Given the description of an element on the screen output the (x, y) to click on. 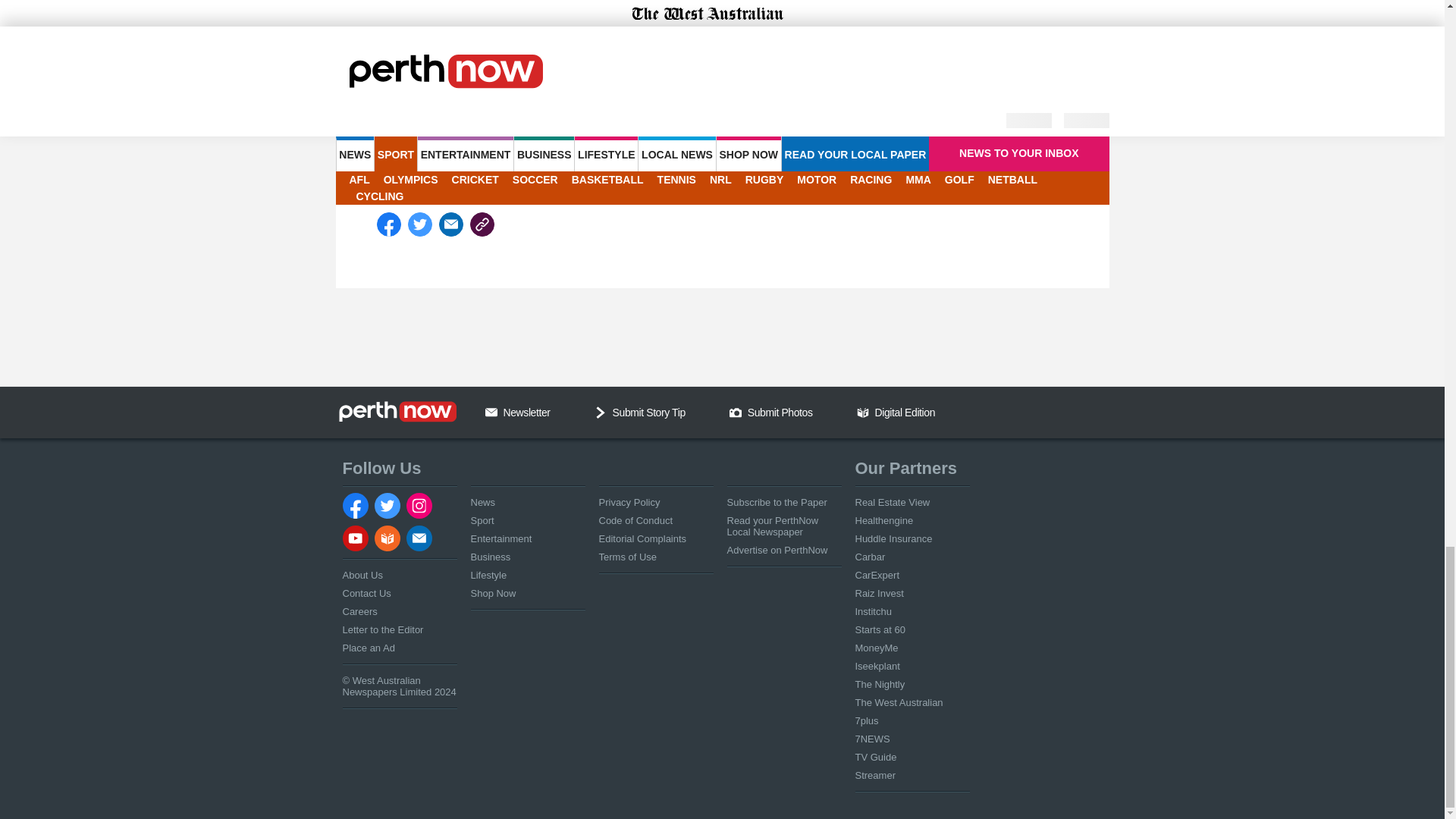
Camera Icon (735, 412)
Email Us (490, 412)
Chevron Down Icon (600, 412)
